Given the description of an element on the screen output the (x, y) to click on. 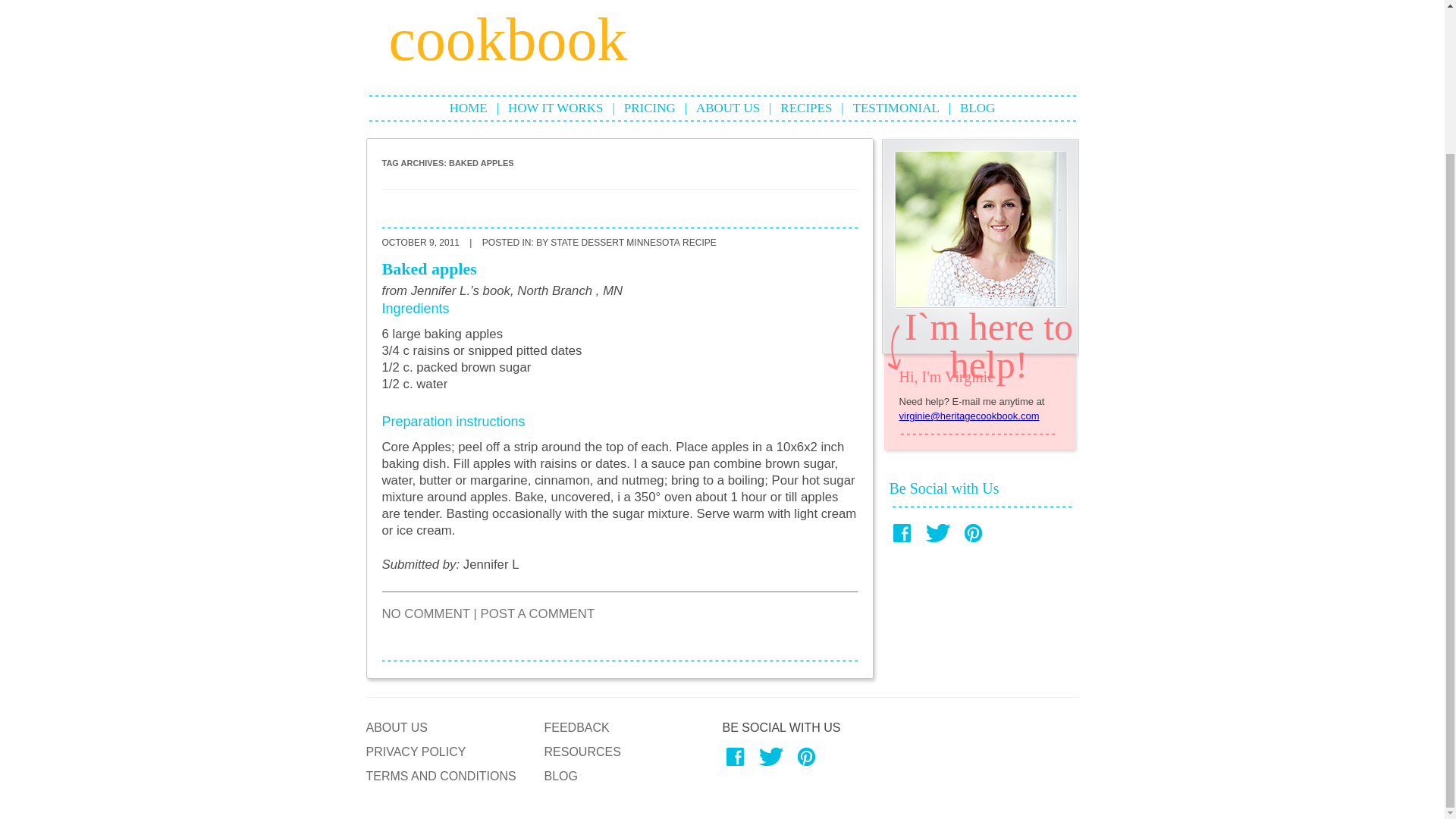
Baked apples (429, 268)
POST A COMMENT (537, 613)
HOW IT WORKS (556, 108)
TESTIMONIAL (896, 108)
BY STATE (556, 242)
BLOG (976, 108)
RECIPES (805, 108)
ABOUT US (727, 108)
RECIPE (699, 242)
HOME (468, 108)
